Given the description of an element on the screen output the (x, y) to click on. 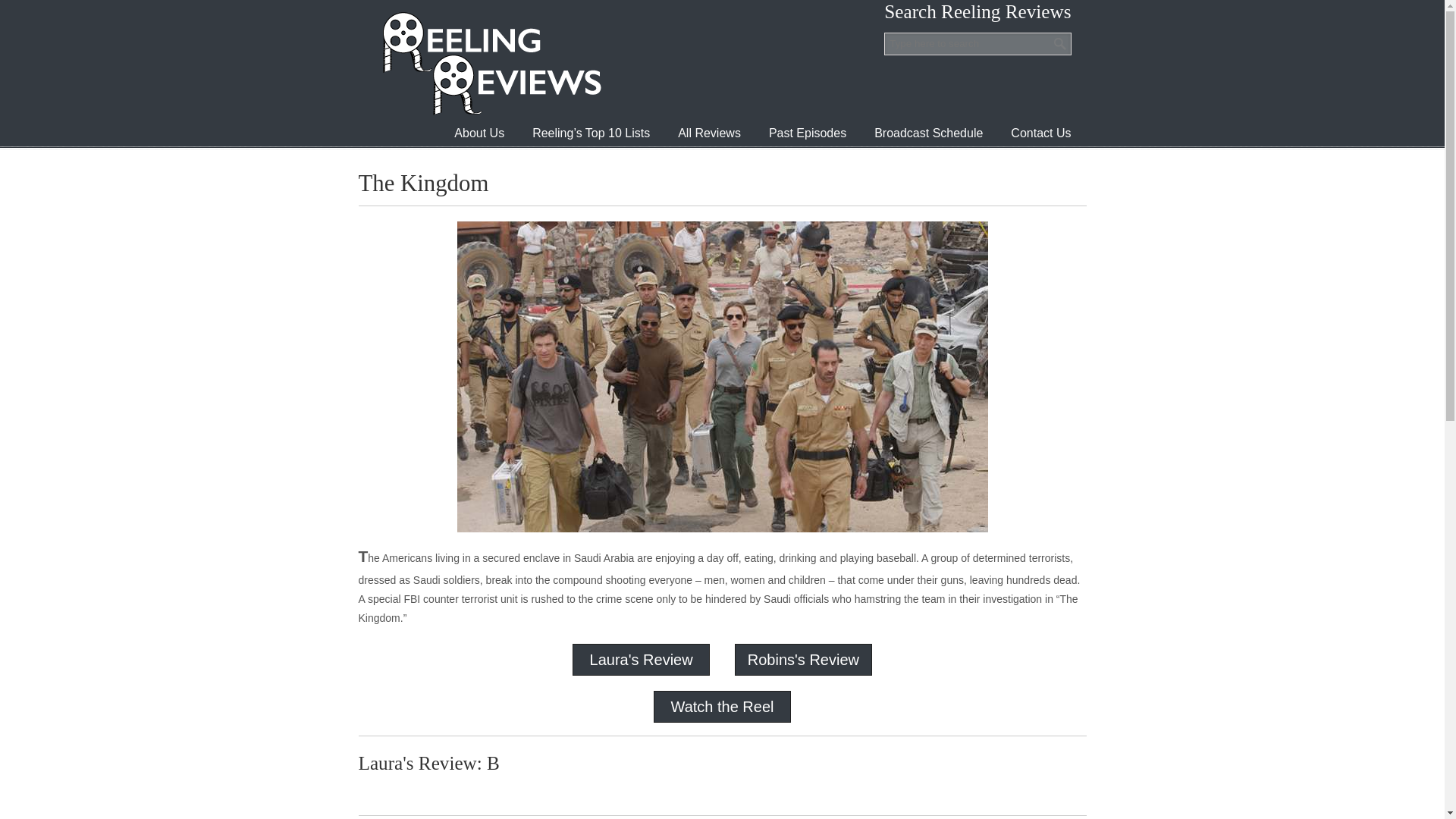
All Reviews (708, 133)
Contact Us (1040, 133)
Past Episodes (807, 133)
Reeling Reviews (489, 63)
Reeling Reviews (489, 63)
About Us (479, 133)
Broadcast Schedule (928, 133)
Laura's Review (641, 659)
Robins's Review (803, 659)
Watch the Reel (721, 706)
